Given the description of an element on the screen output the (x, y) to click on. 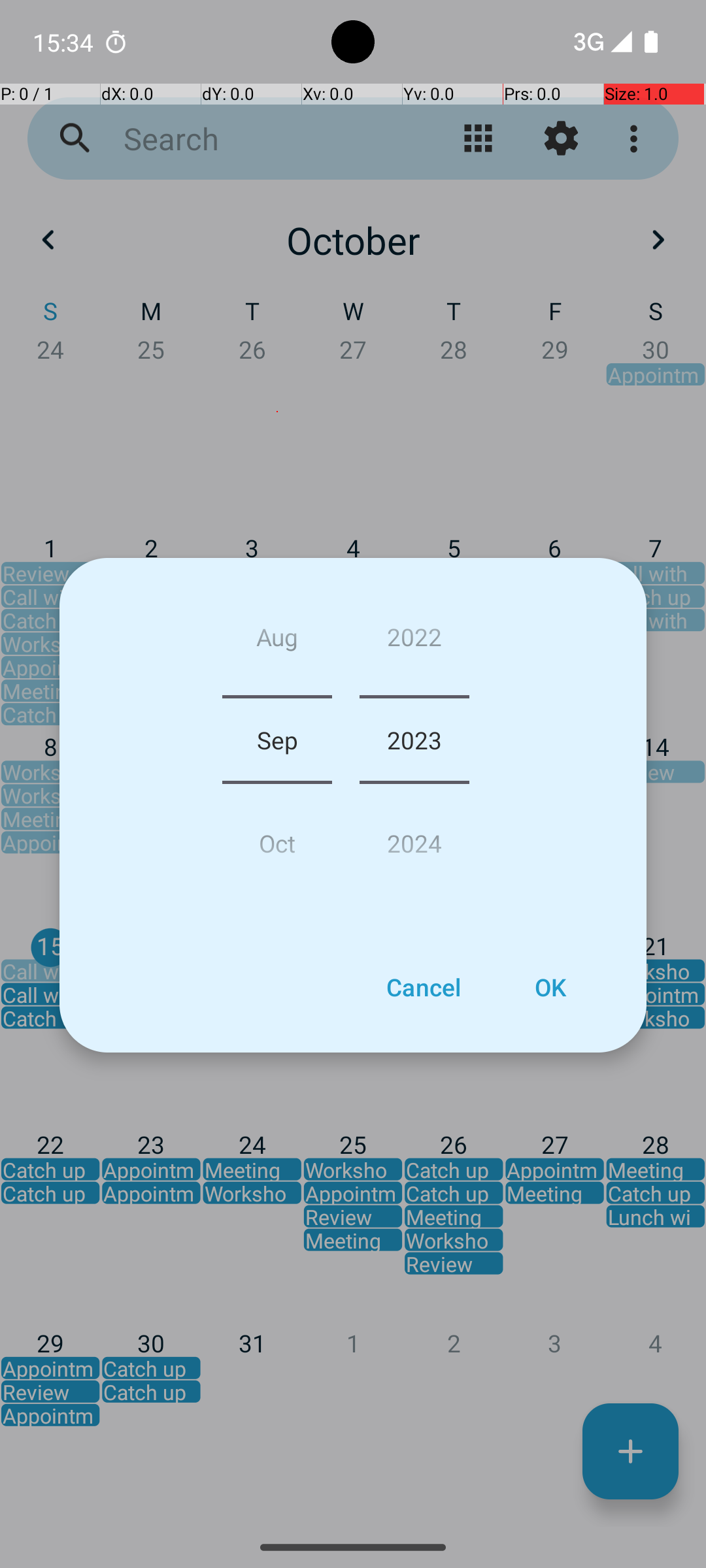
Aug Element type: android.widget.Button (277, 641)
